Given the description of an element on the screen output the (x, y) to click on. 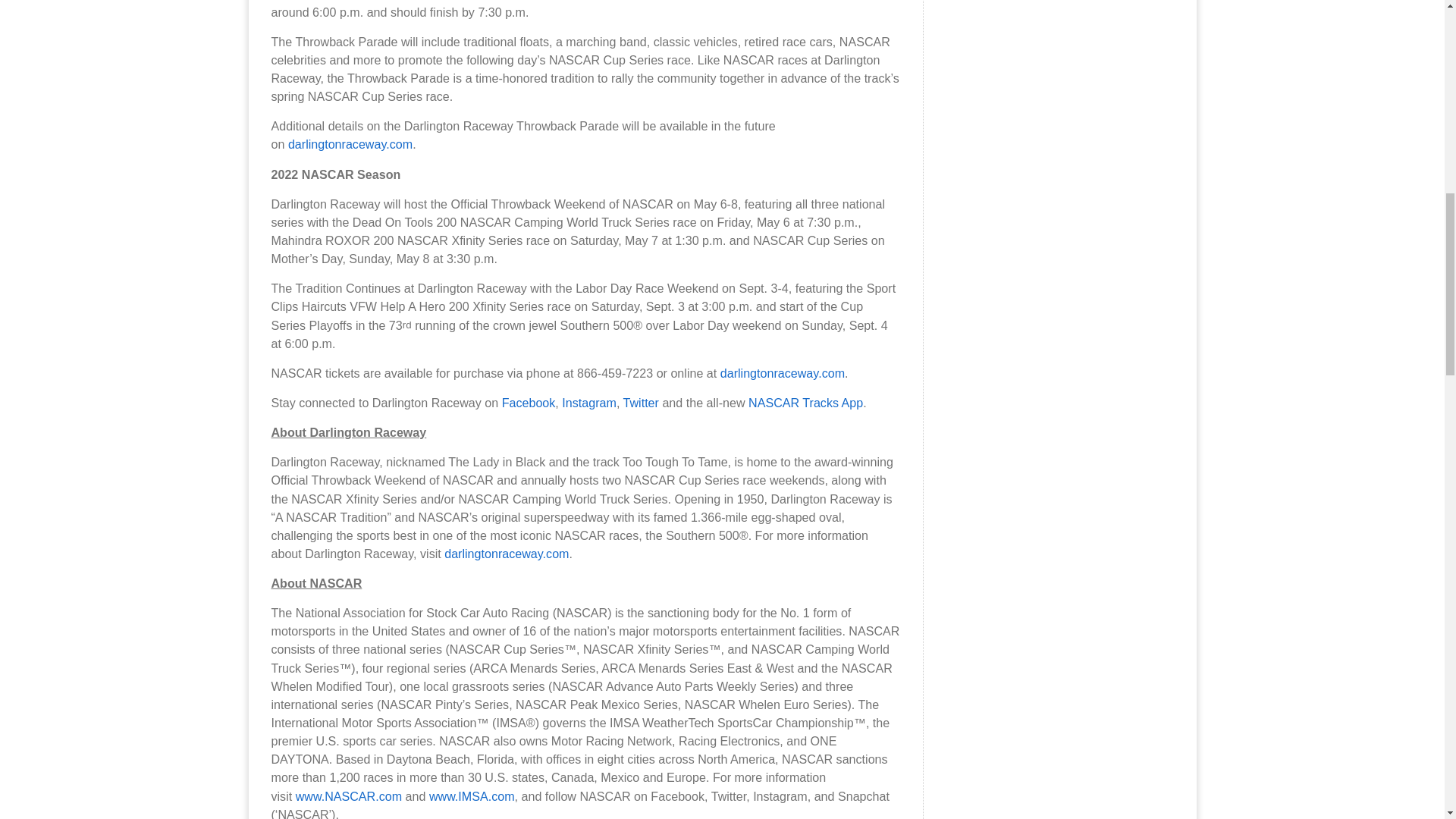
Facebook (529, 402)
darlingtonraceway.com (782, 373)
darlingtonraceway.com (350, 143)
